Given the description of an element on the screen output the (x, y) to click on. 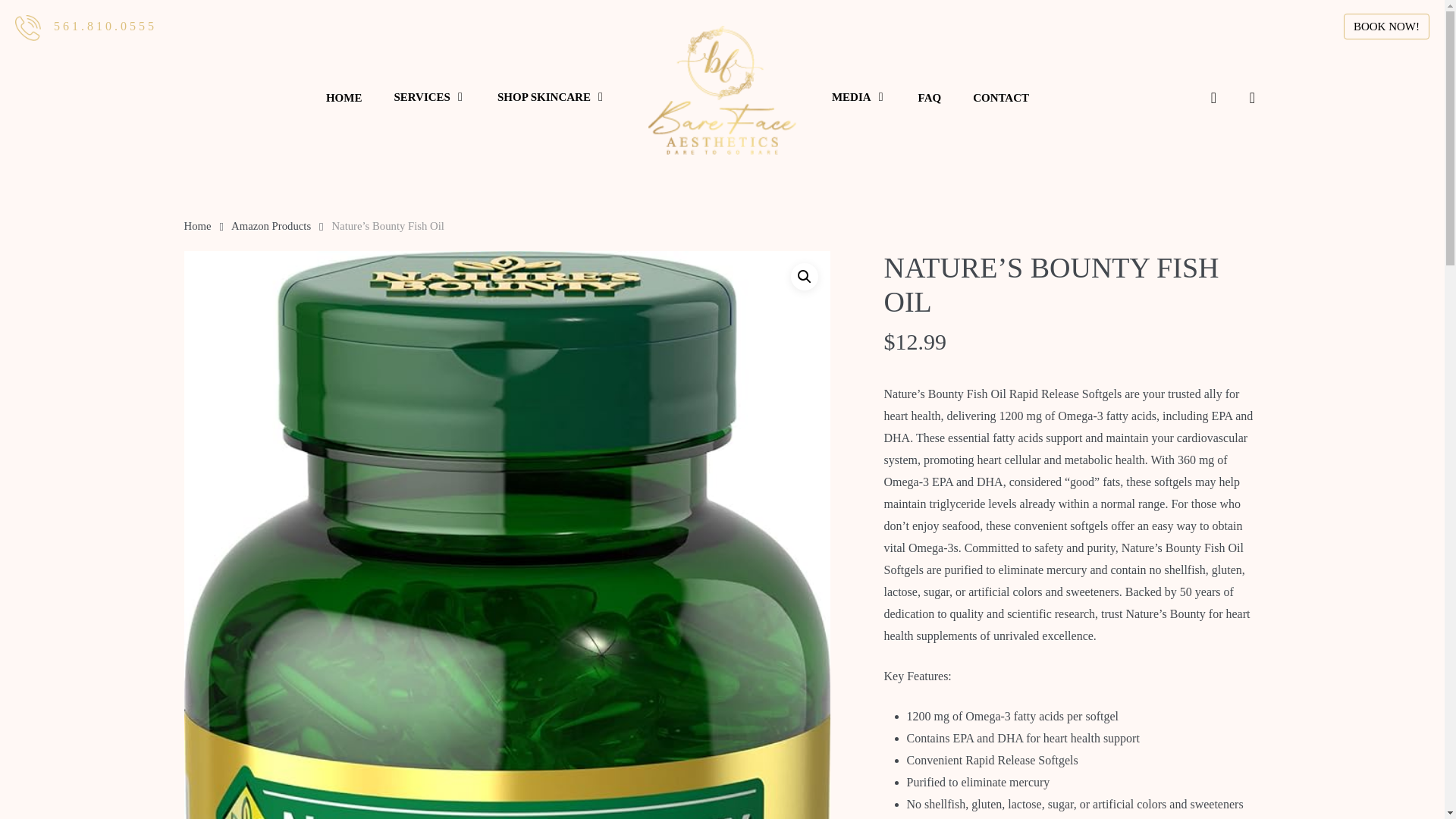
SHOP SKINCARE (551, 97)
5 6 1 . 8 1 0 . 0 5 5 5 (103, 25)
BOOK NOW! (1386, 26)
SERVICES (429, 97)
HOME (344, 97)
